Given the description of an element on the screen output the (x, y) to click on. 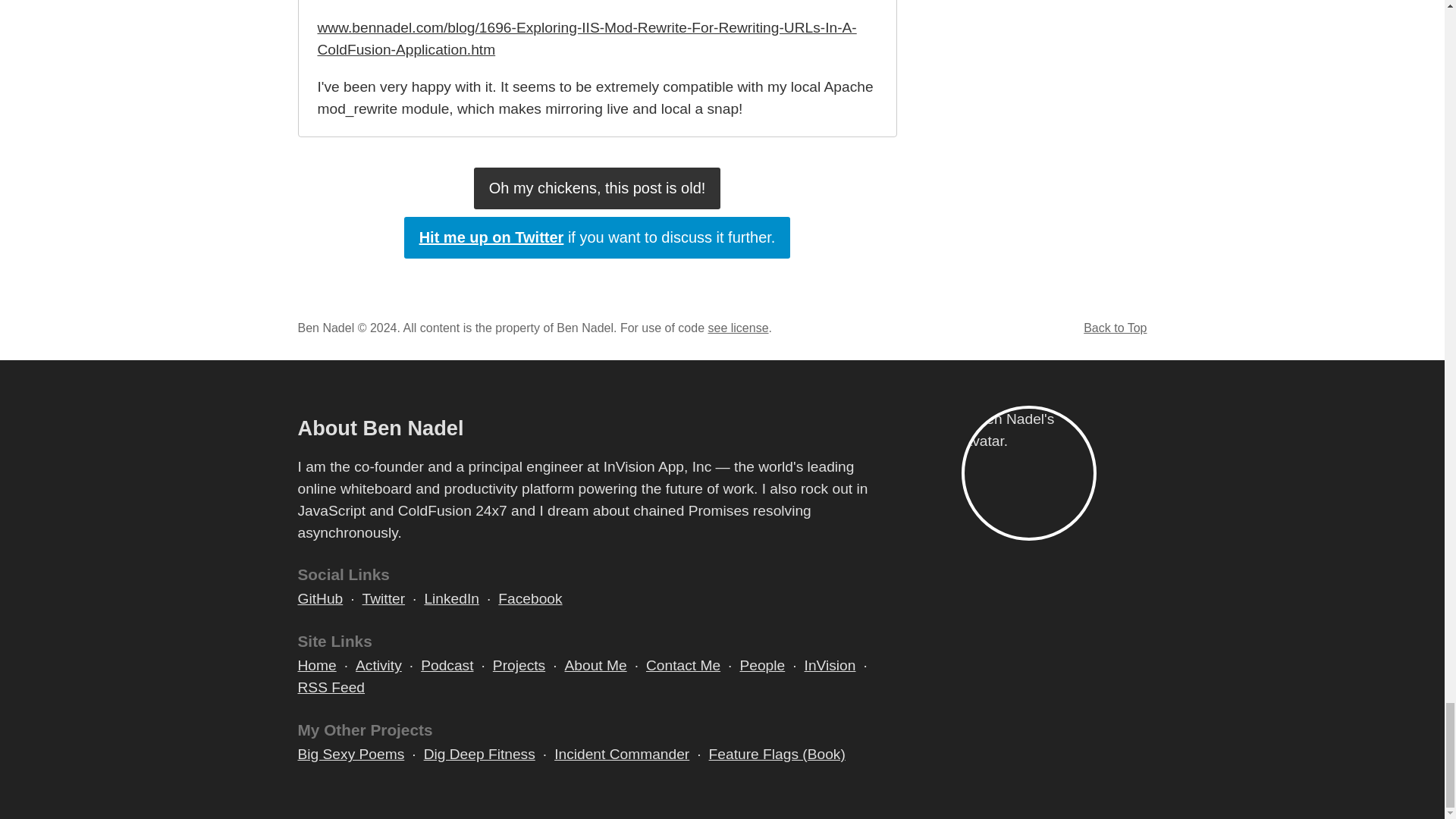
Ben Nadel's Twitter Account (597, 237)
Follow Ben Nadel on GitHub. (319, 599)
Follow Ben Nadel on Twitter. (384, 599)
Follow Ben Nadel on Facebook. (529, 599)
Ben Nadel's Blog on modern web application development (316, 666)
Ben Nadel's podcast, Working Code. (446, 666)
Recent activity on Ben Nadel's blog. (378, 666)
Ben Nadel's open source web development projects. (518, 666)
Follow Ben Nadel on LinkedIn. (451, 599)
